Given the description of an element on the screen output the (x, y) to click on. 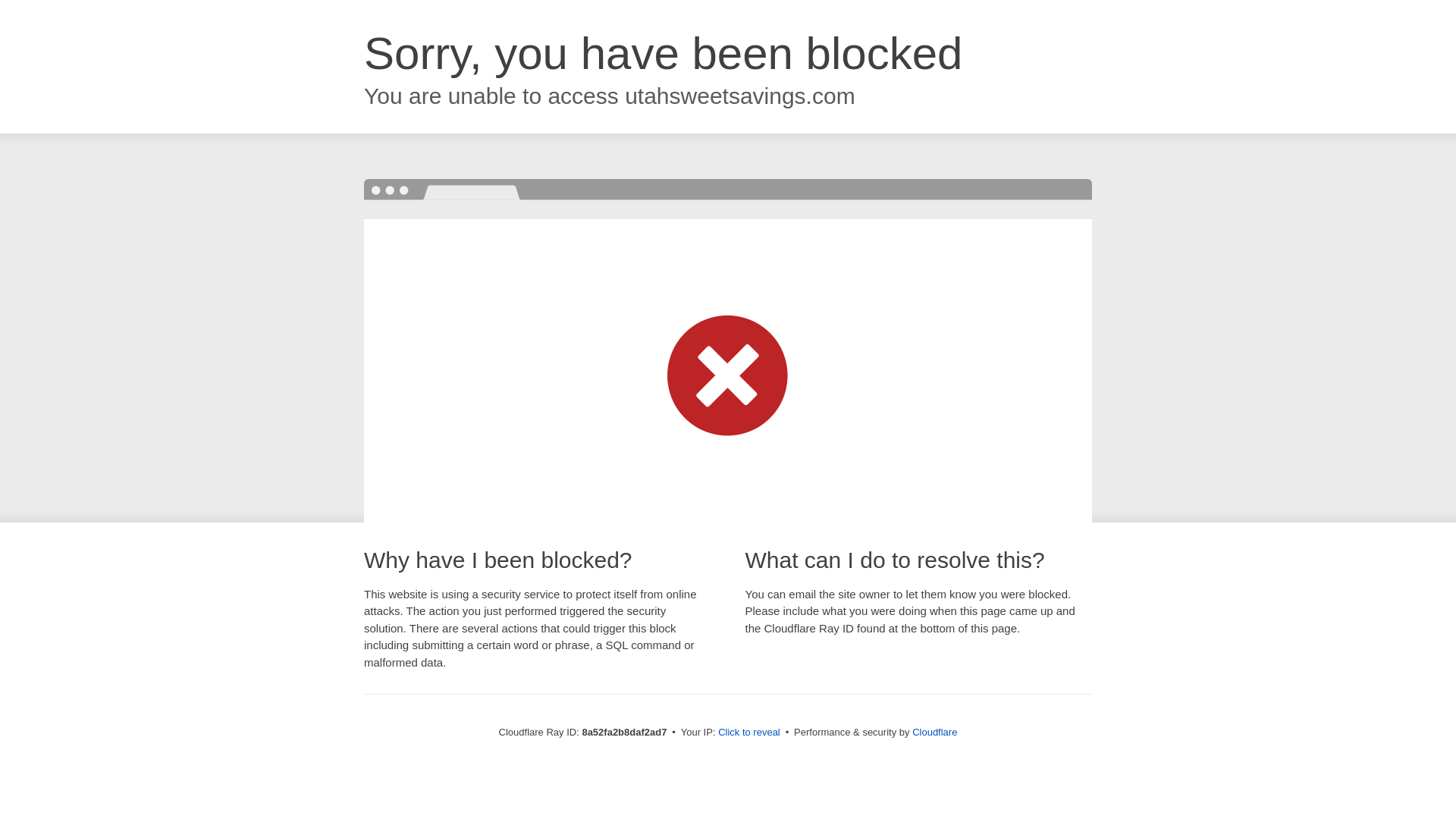
Cloudflare (934, 731)
Click to reveal (748, 732)
